Given the description of an element on the screen output the (x, y) to click on. 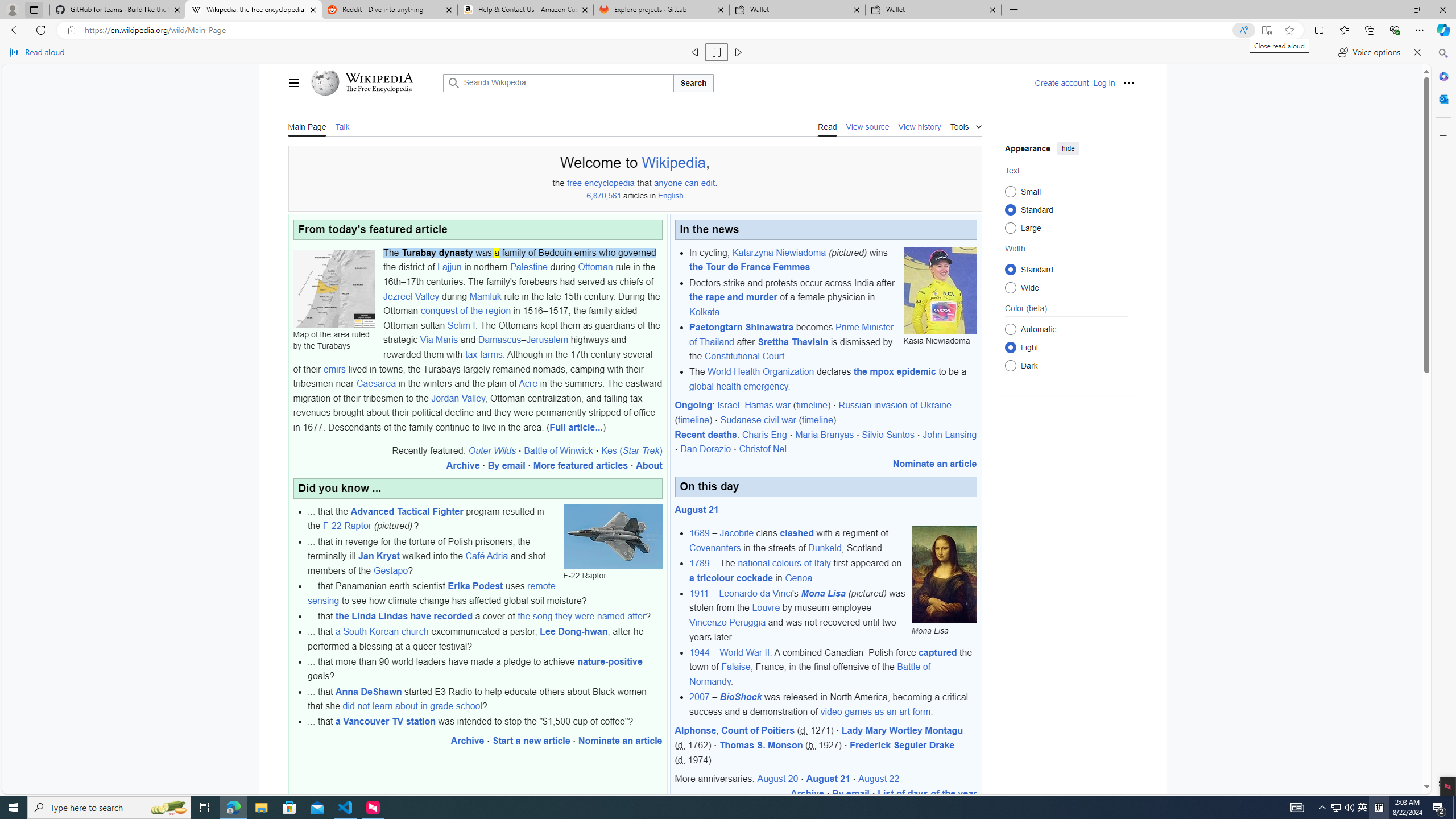
Mamluk (485, 296)
August 22 (878, 778)
Bedouin (555, 252)
Mona Lisa (822, 593)
1911 (698, 593)
a Vancouver TV station (385, 721)
Create account (1062, 82)
Dunkeld (824, 547)
Lady Mary Wortley Montagu (901, 730)
remote sensing (431, 593)
Map of the area ruled by the Turabays (333, 288)
Lajjun (448, 267)
